Given the description of an element on the screen output the (x, y) to click on. 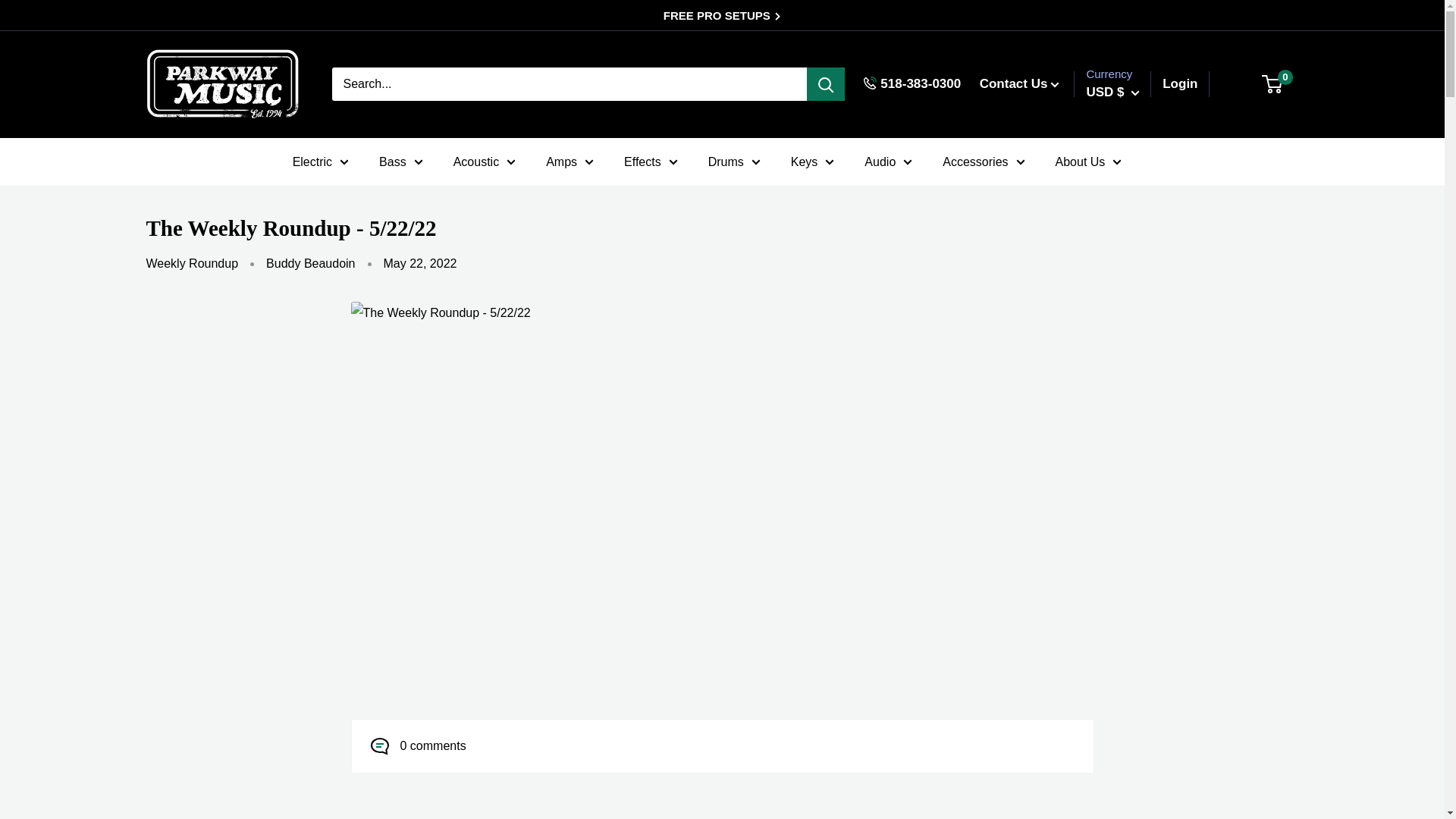
FREE PRO SETUPS (721, 15)
